Given the description of an element on the screen output the (x, y) to click on. 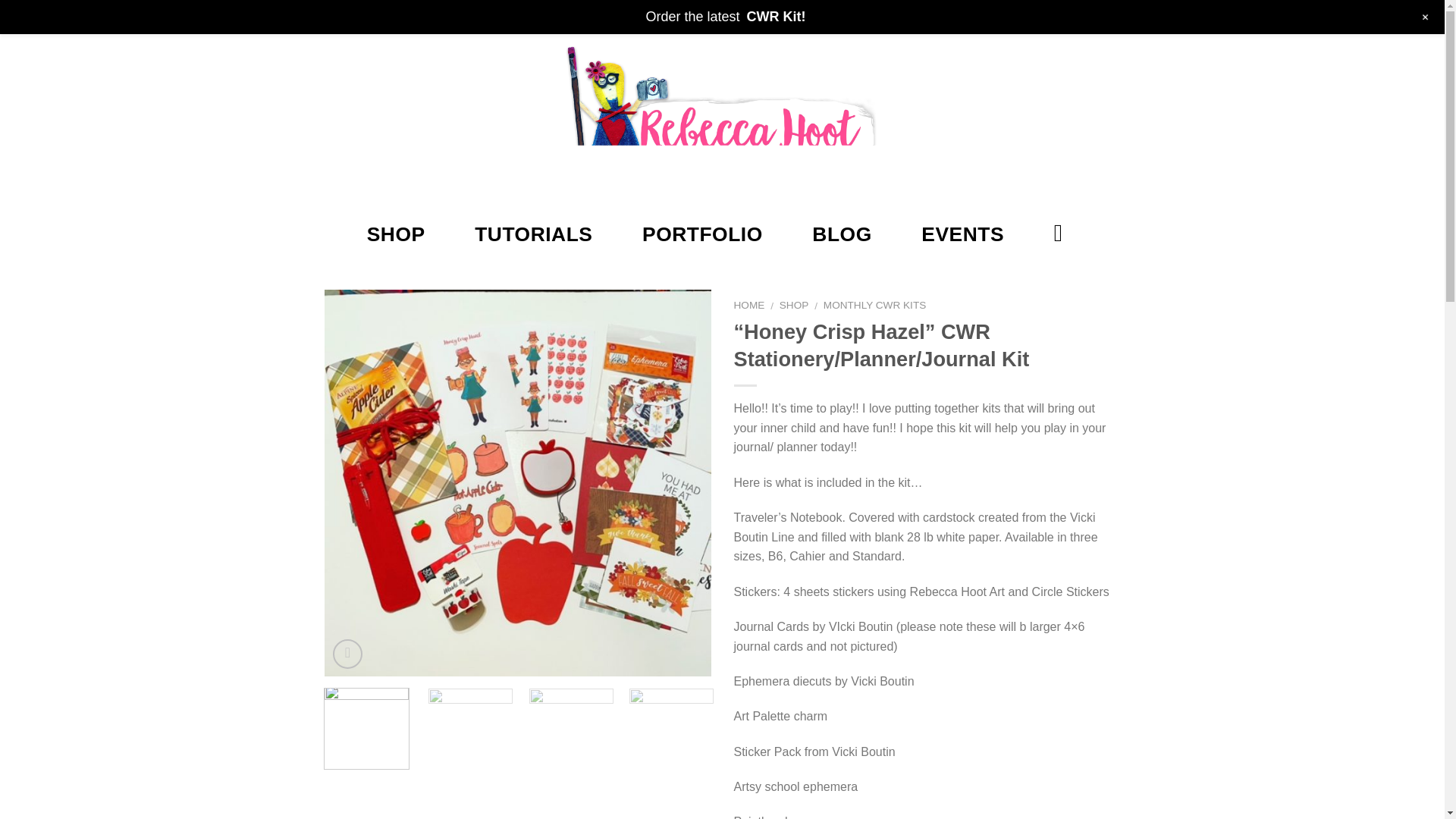
TUTORIALS (533, 234)
SHOP (396, 234)
MONTHLY CWR KITS (875, 305)
HOME (749, 305)
Follow on YouTube (400, 14)
Create with Rebecca - Create with Rebecca (722, 120)
Follow on Instagram (357, 14)
Zoom (347, 654)
